Given the description of an element on the screen output the (x, y) to click on. 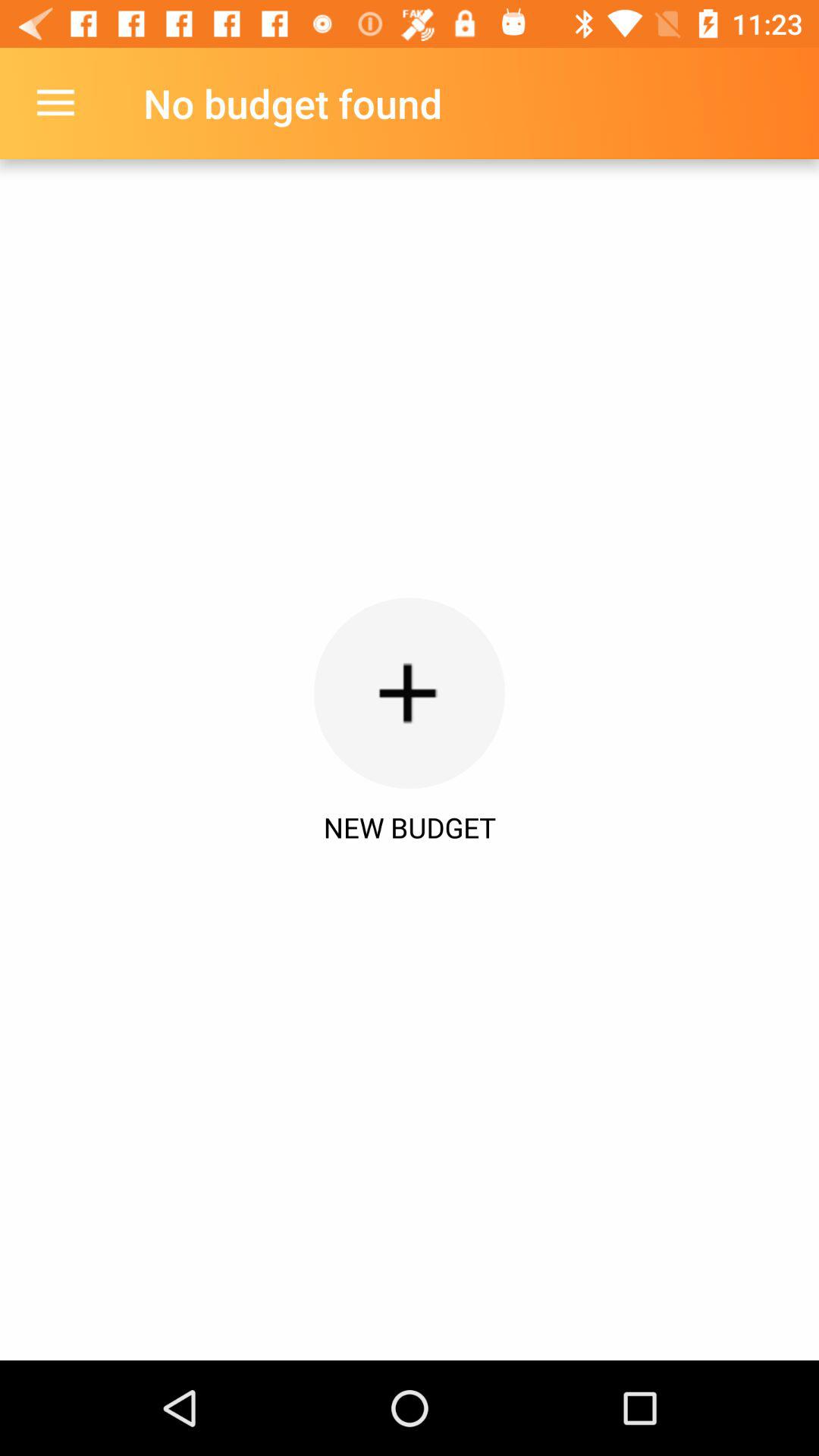
add new budget (409, 692)
